Given the description of an element on the screen output the (x, y) to click on. 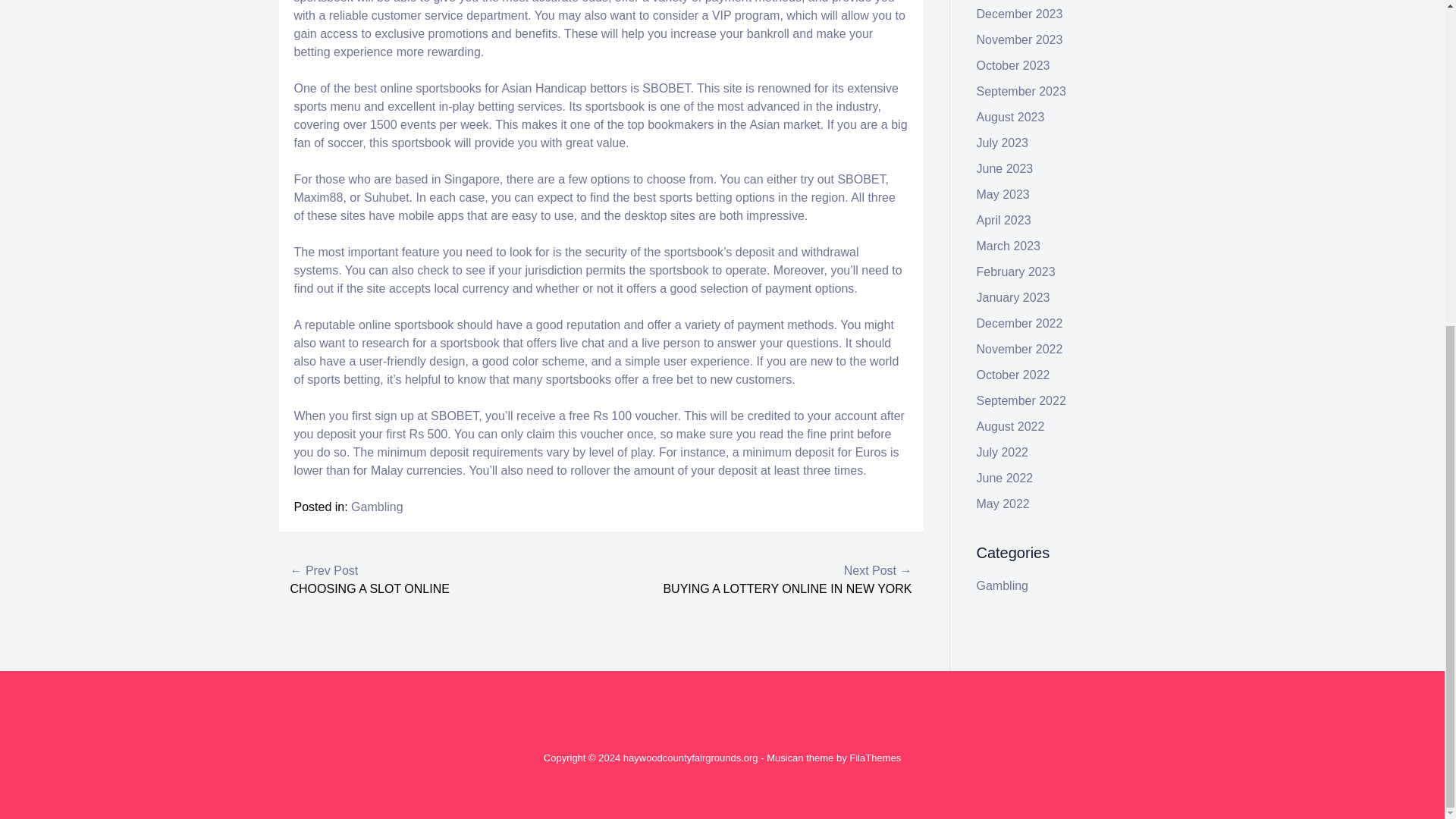
May 2022 (1002, 503)
June 2023 (1004, 168)
August 2022 (1010, 426)
July 2022 (1002, 451)
May 2023 (1002, 194)
September 2022 (1020, 400)
January 2023 (1012, 297)
October 2023 (1012, 65)
February 2023 (1015, 271)
March 2023 (1008, 245)
August 2023 (1010, 116)
June 2022 (1004, 477)
July 2023 (1002, 142)
April 2023 (1003, 219)
September 2023 (1020, 91)
